Given the description of an element on the screen output the (x, y) to click on. 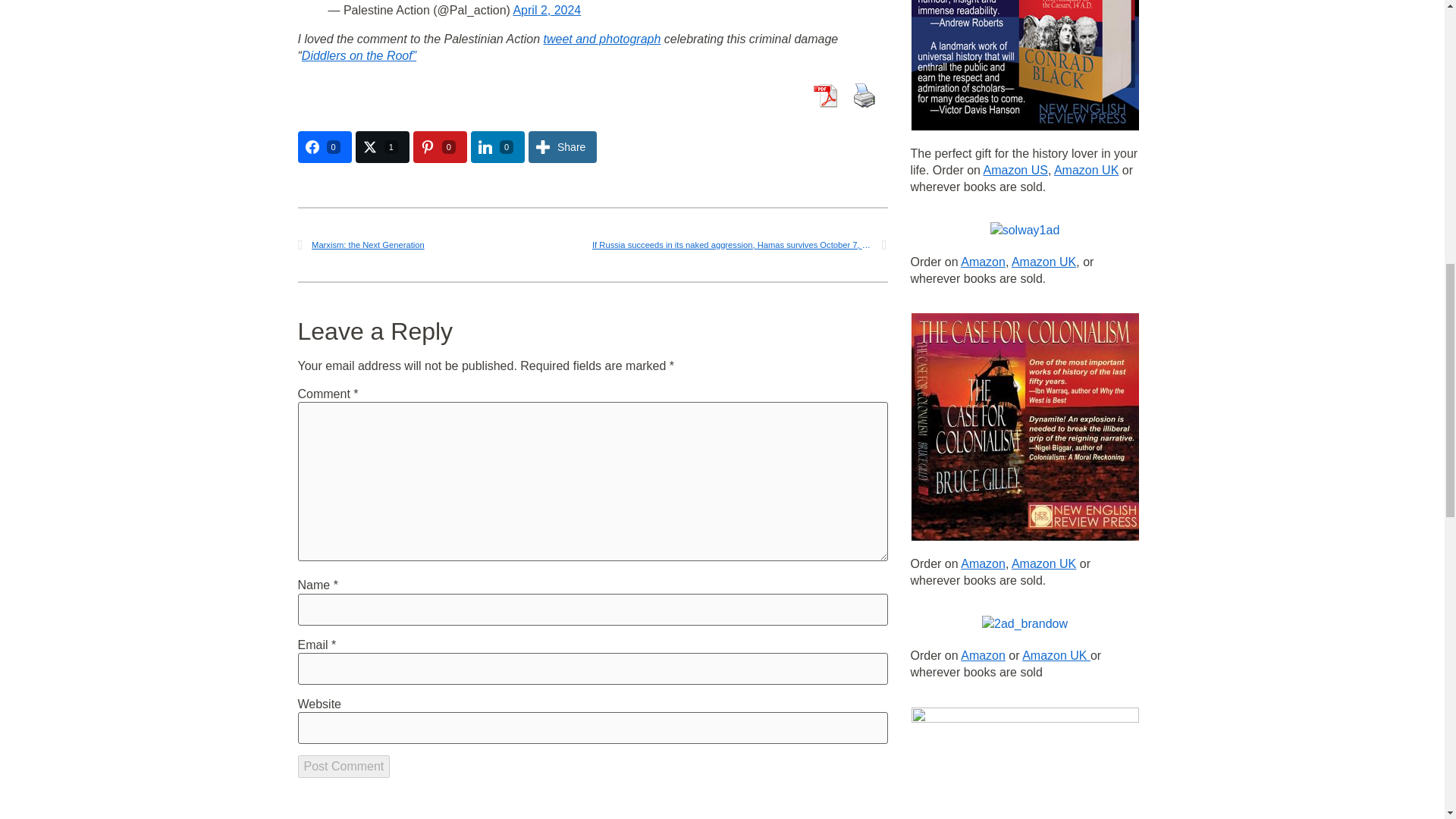
Post Comment (343, 766)
Share on Twitter (382, 146)
Print Content (863, 95)
Share on LinkedIn (497, 146)
tweet and photograph (602, 38)
View PDF (824, 95)
Share on Facebook (323, 146)
Share on Share (562, 146)
April 2, 2024 (546, 10)
Share on Pinterest (440, 146)
